Given the description of an element on the screen output the (x, y) to click on. 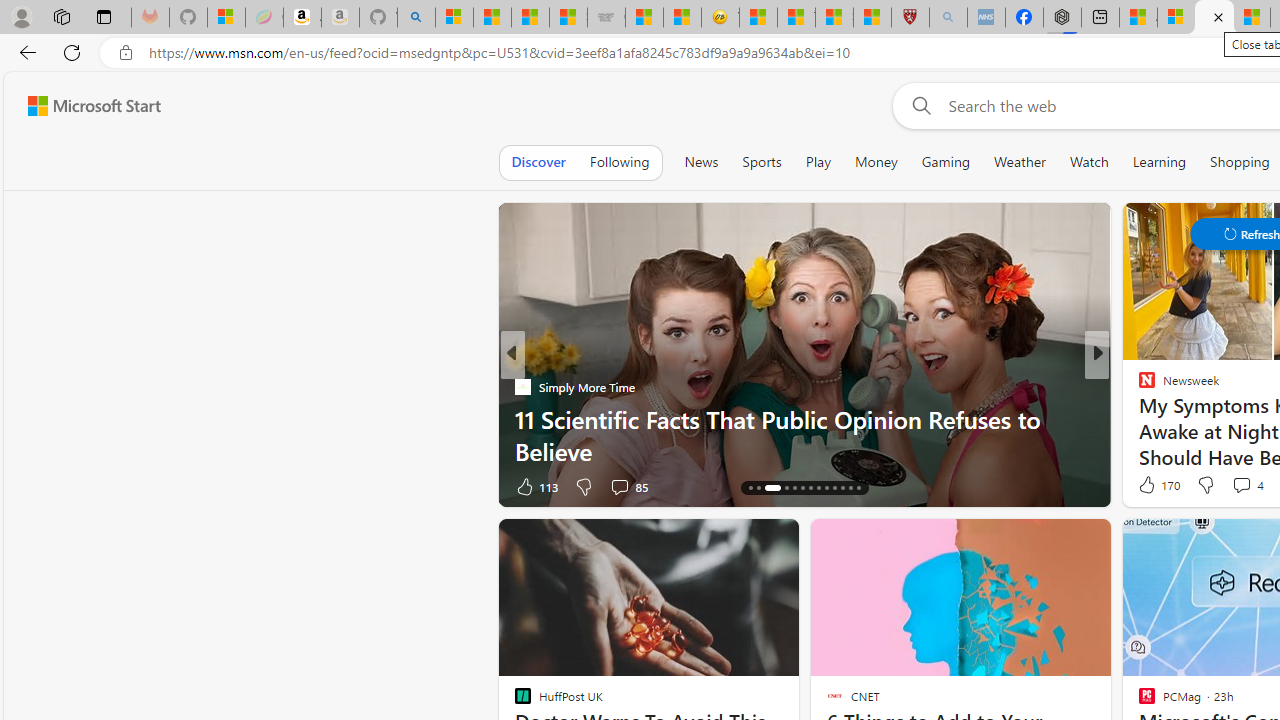
12 Popular Science Lies that Must be Corrected (871, 17)
Learning (1159, 161)
Money (875, 161)
636 Like (1151, 486)
Gaming (945, 161)
AutomationID: tab-22 (825, 487)
